Given the description of an element on the screen output the (x, y) to click on. 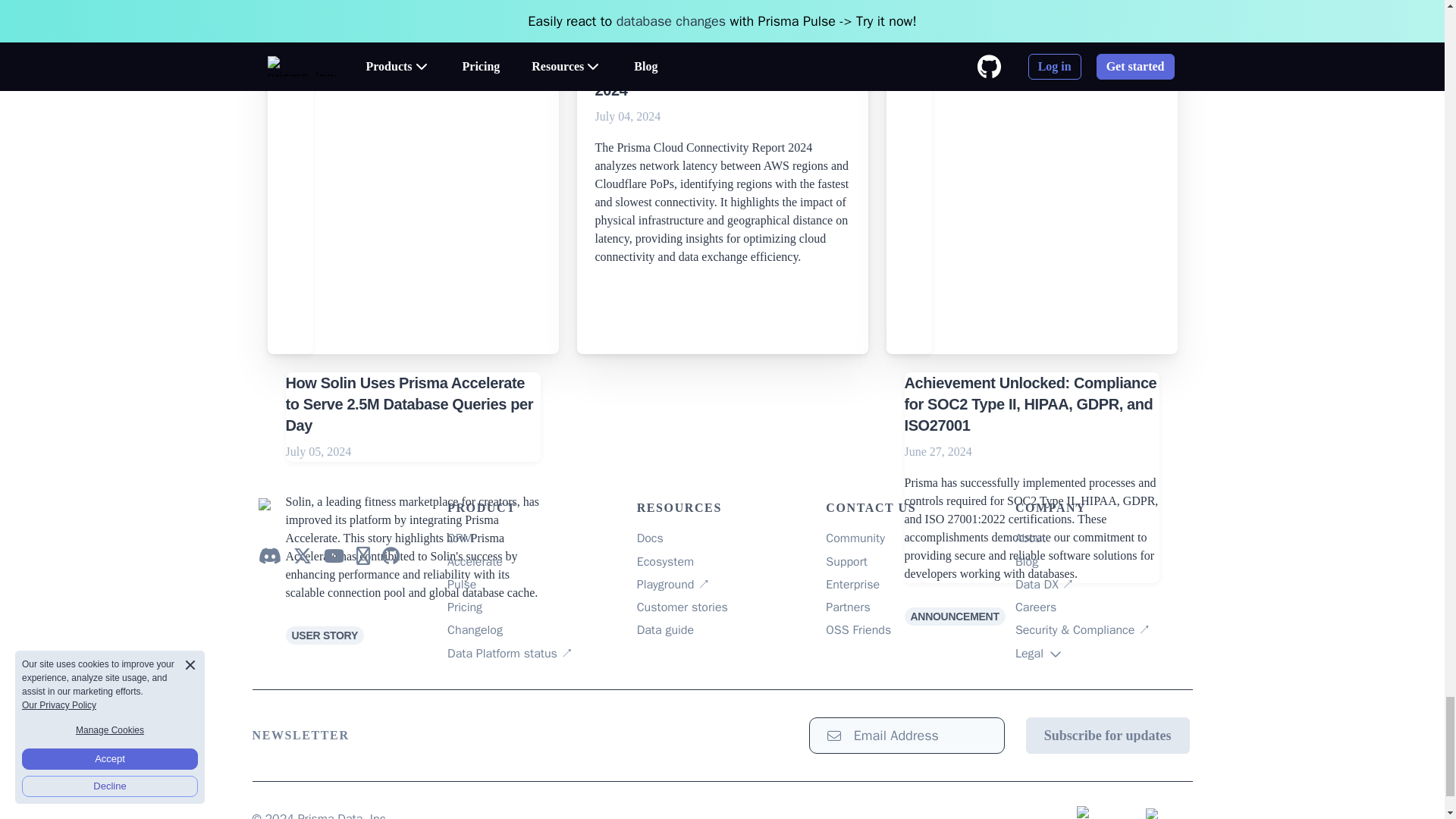
Subscribe for updates (1107, 735)
